Given the description of an element on the screen output the (x, y) to click on. 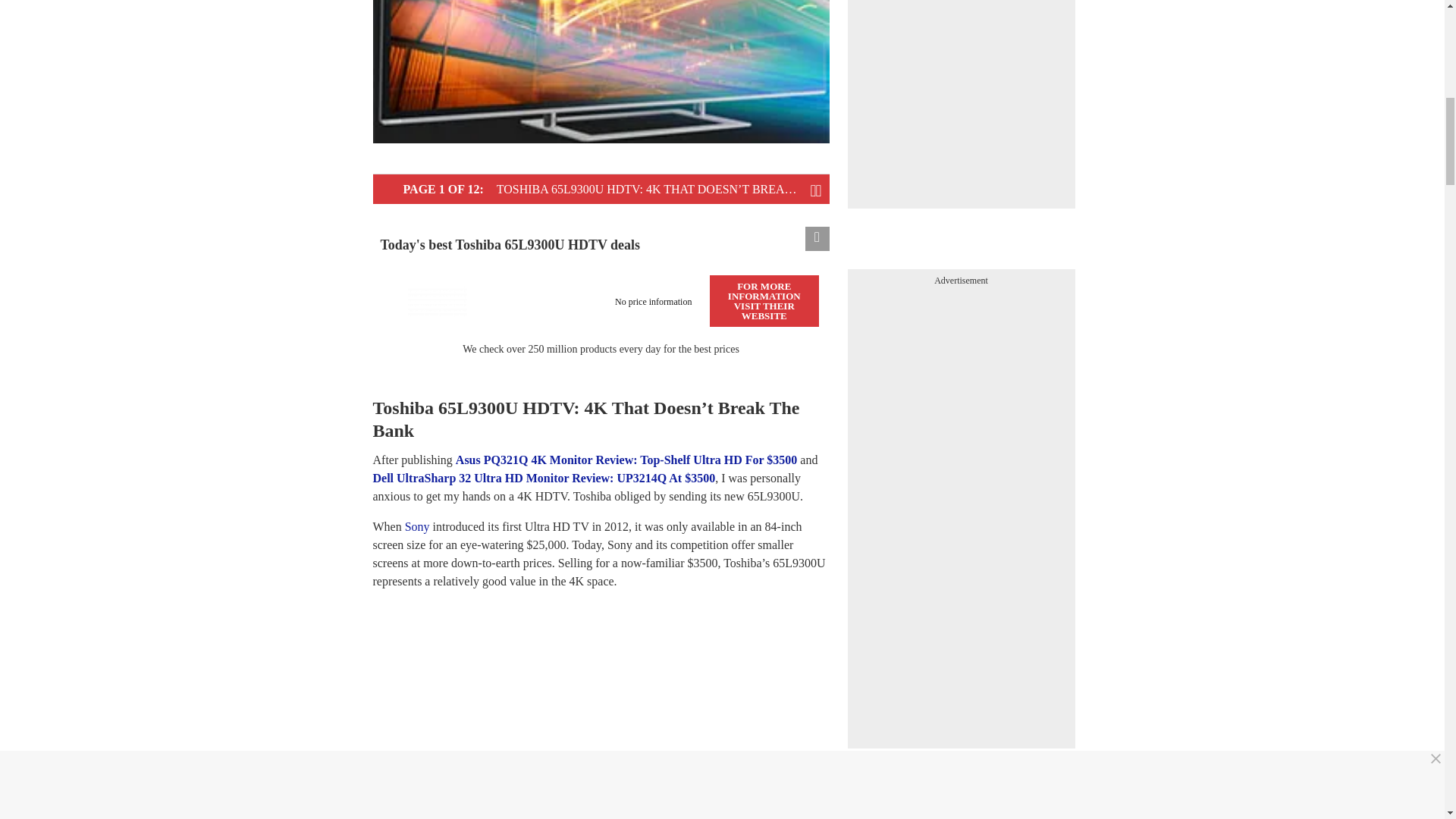
Toshiba 65L9300U HDTV (437, 300)
